Given the description of an element on the screen output the (x, y) to click on. 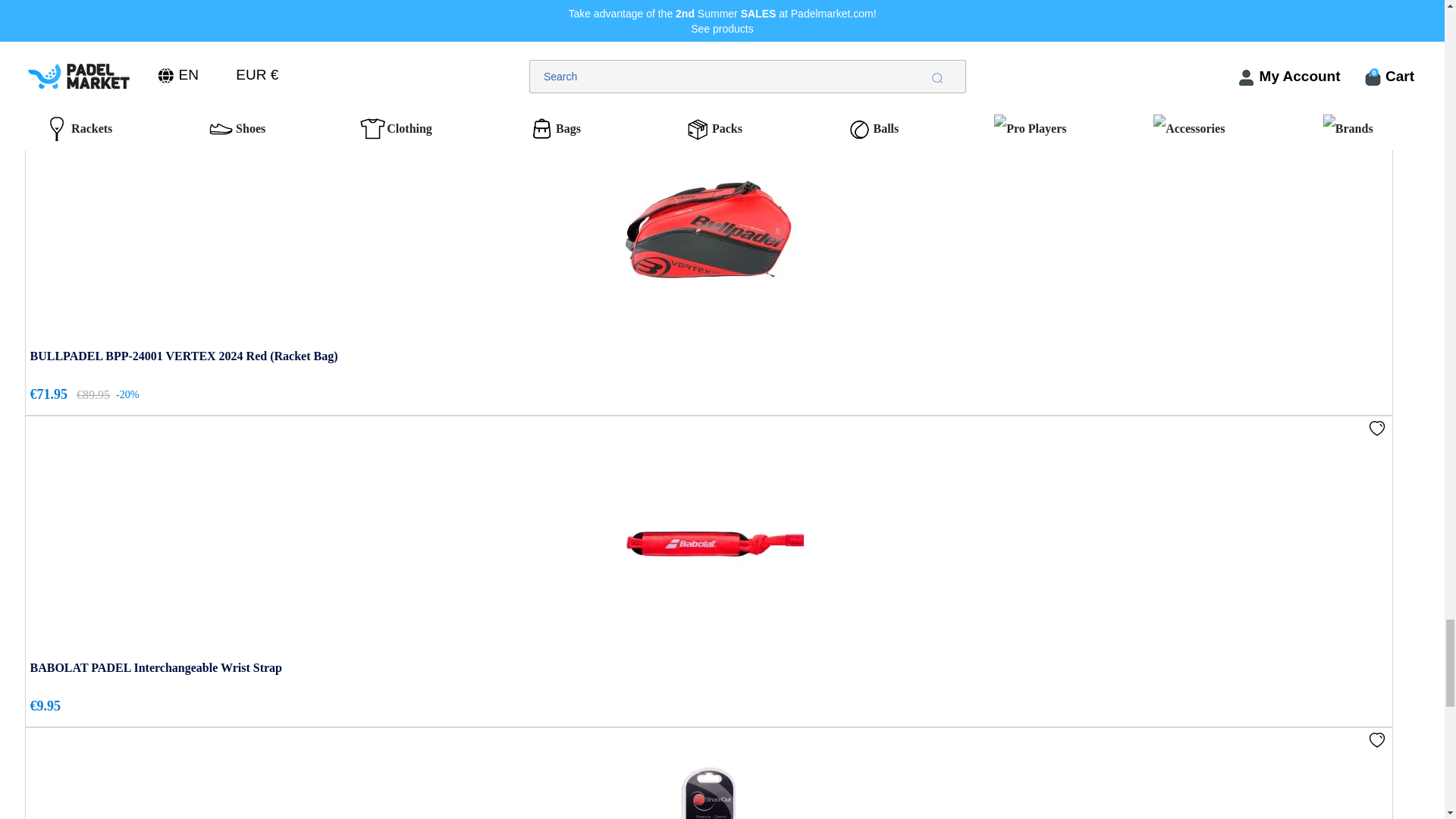
Add to Wishlist (1377, 427)
Add to Wishlist (1377, 738)
Add to Wishlist (1377, 115)
